Given the description of an element on the screen output the (x, y) to click on. 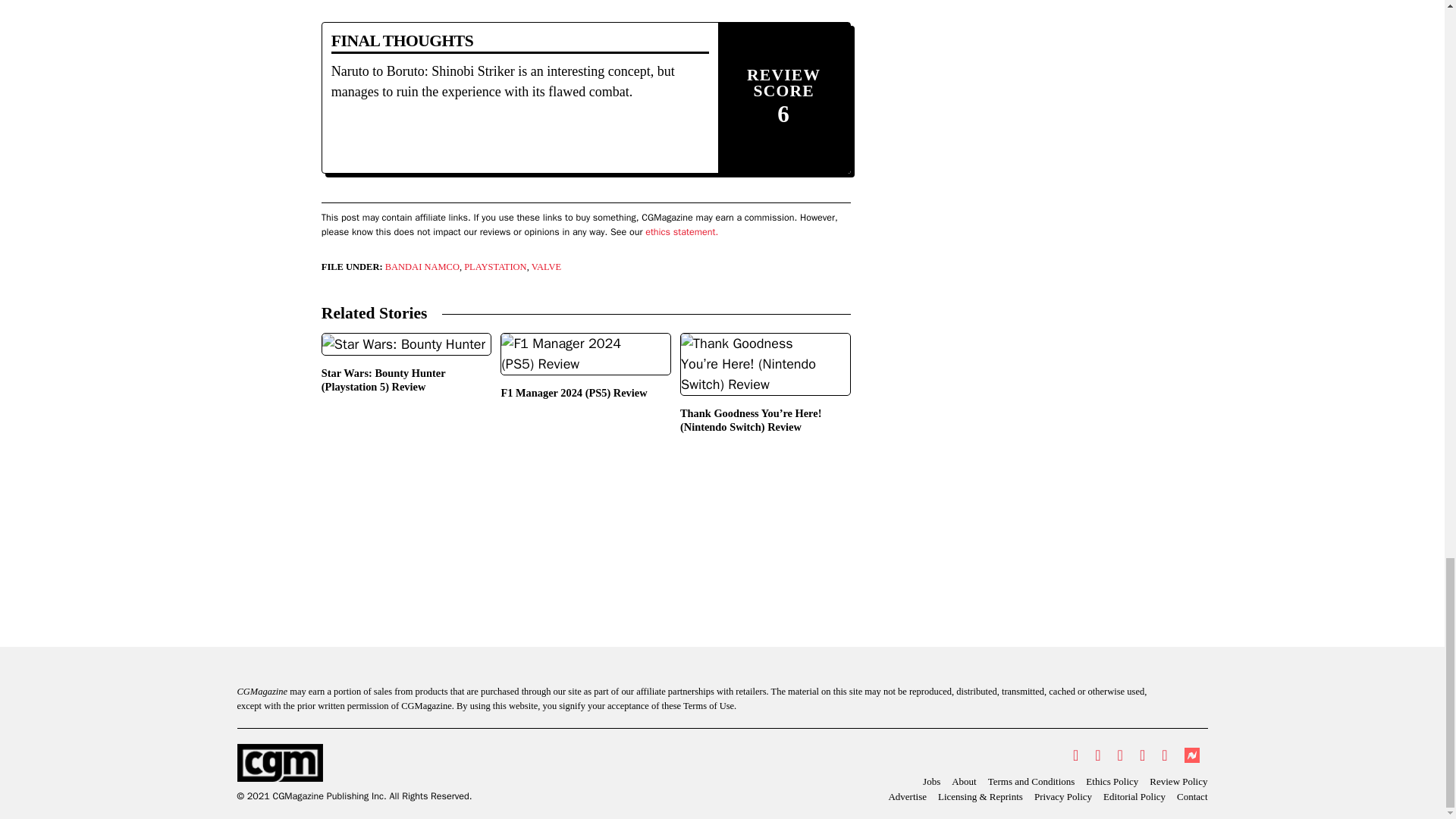
Facebook Page (1097, 754)
Flipboard Page (1163, 754)
Instagram Profile (1120, 754)
YouTube Page (1142, 754)
NewsBreak (1190, 754)
CGMagazine (353, 762)
Twitter Profile (1075, 754)
